Given the description of an element on the screen output the (x, y) to click on. 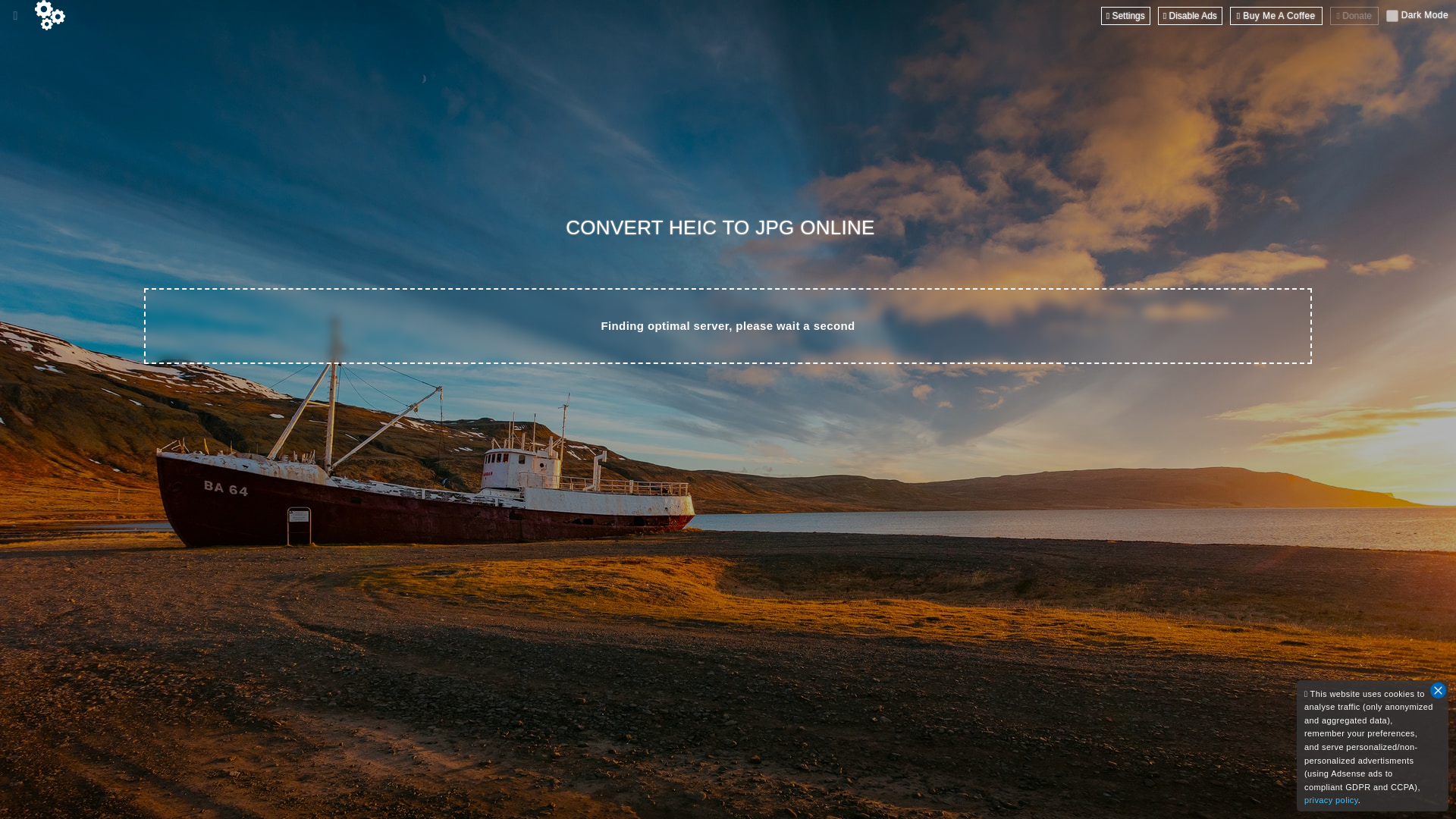
privacy policy (1331, 799)
Donate via PayPal (1354, 15)
Click to reload this page (724, 227)
Show or hide the menu (15, 15)
CONVERT HEIC TO JPG ONLINE (724, 227)
Go to Home page (49, 15)
Donate (1354, 14)
Click to open the tool settings (1125, 14)
Click to disable ads (1190, 14)
 Disable Ads (1190, 14)
